Given the description of an element on the screen output the (x, y) to click on. 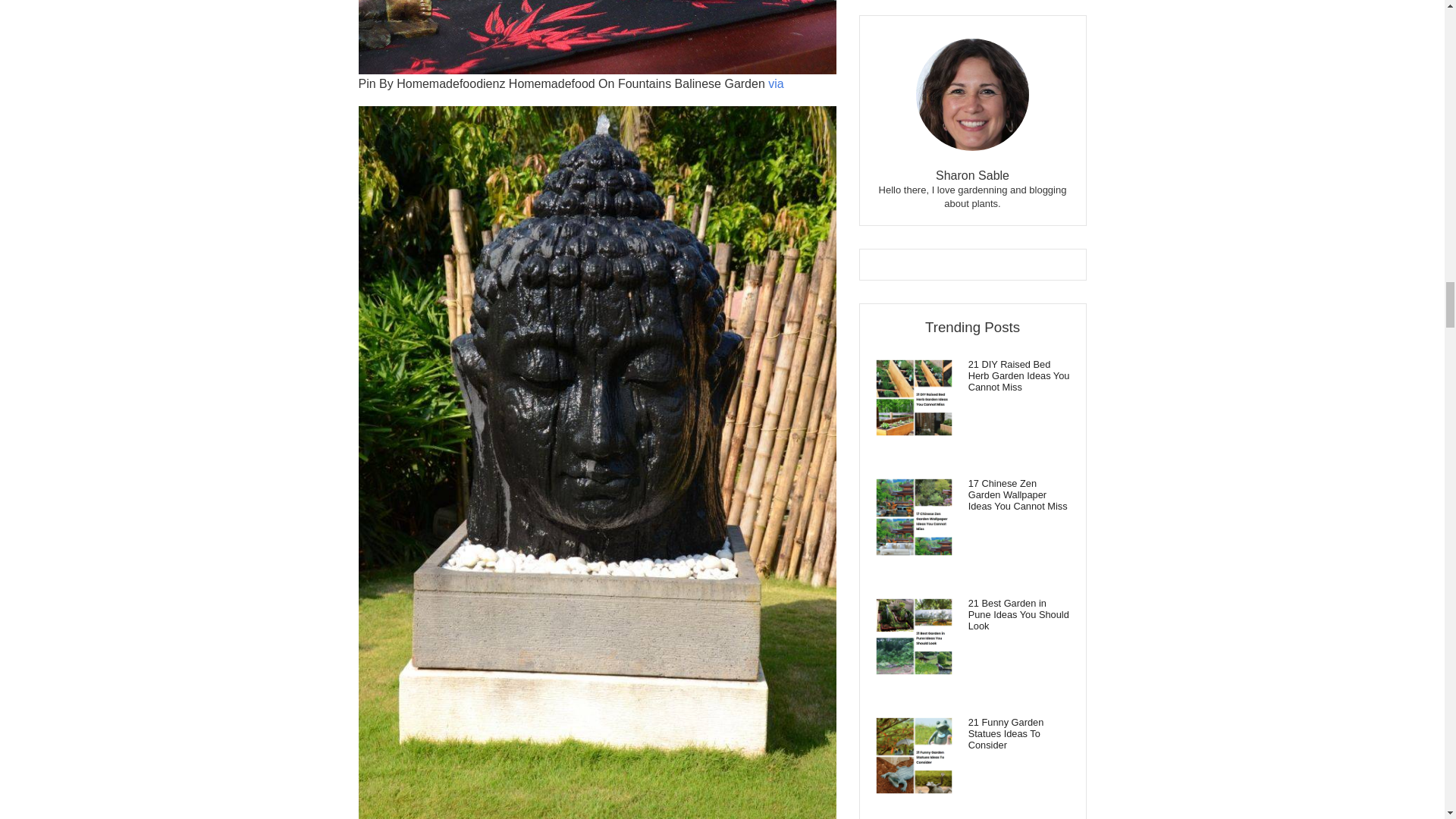
via (775, 83)
